Given the description of an element on the screen output the (x, y) to click on. 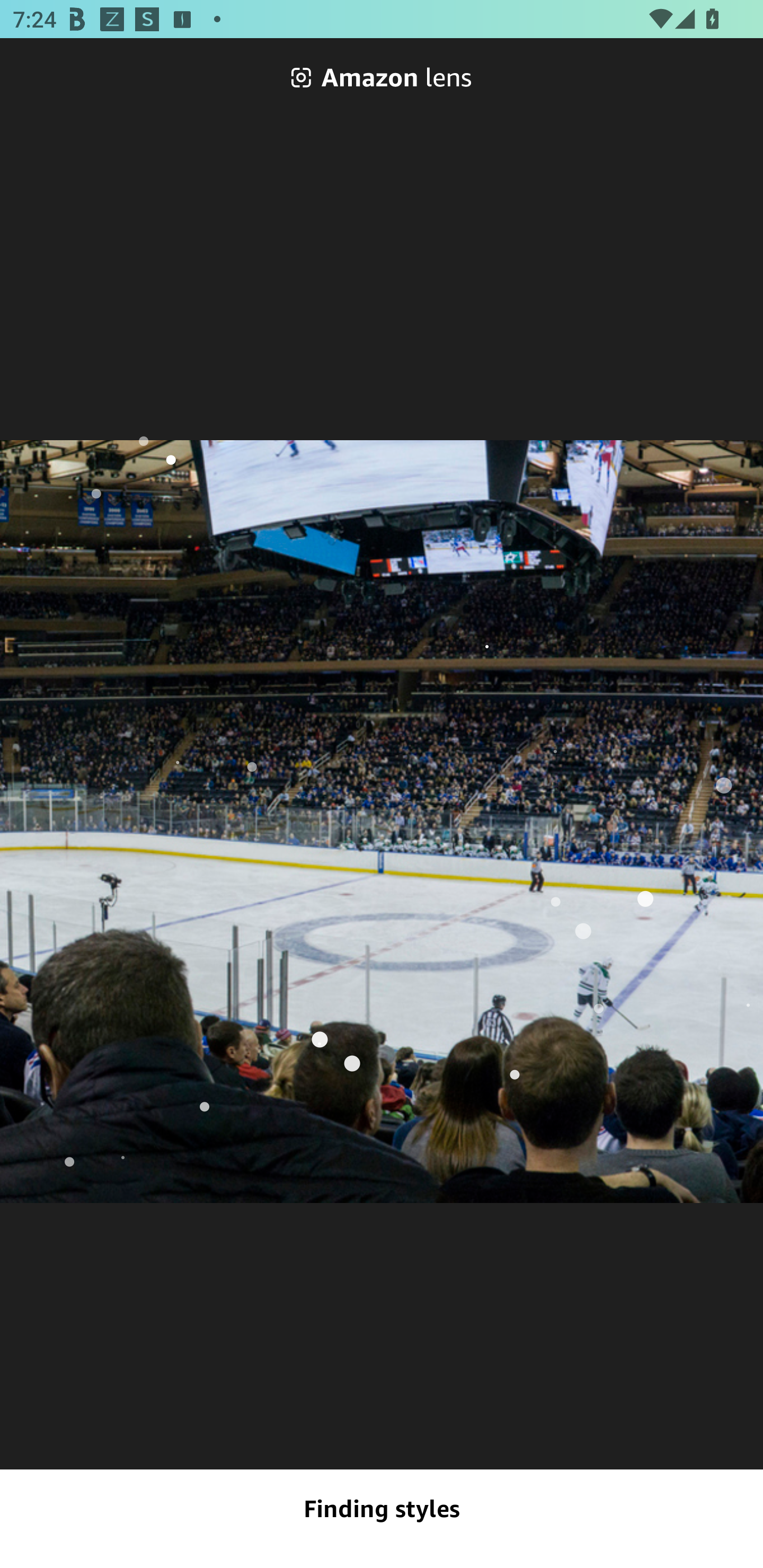
Finding styles (381, 1509)
